Given the description of an element on the screen output the (x, y) to click on. 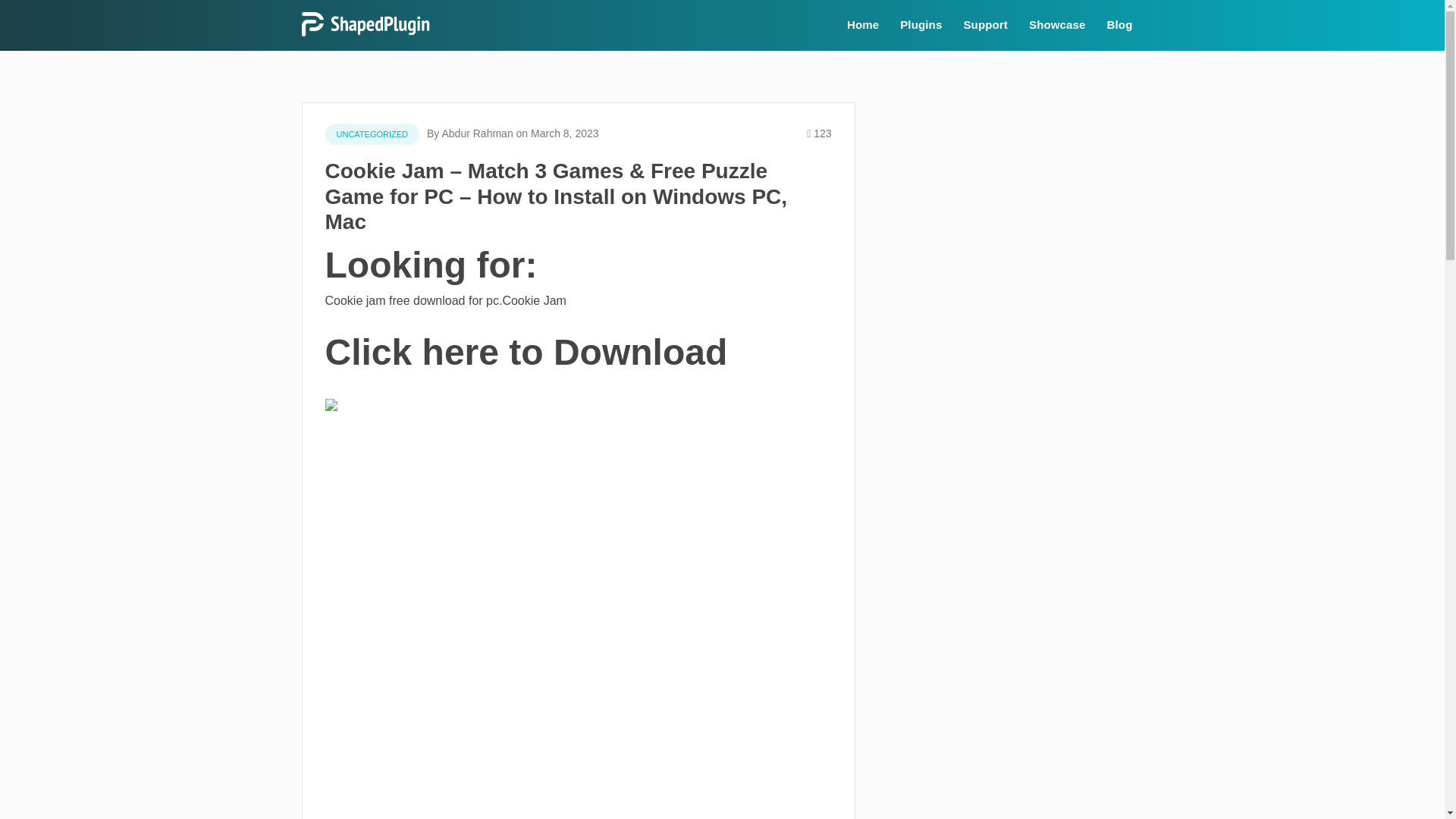
Abdur Rahman (476, 133)
Blog (1119, 25)
Home (862, 25)
Plugins (920, 25)
Support (984, 25)
Showcase (1056, 25)
Blog (1119, 25)
Showcase (1056, 25)
Home (862, 25)
UNCATEGORIZED (371, 133)
